Given the description of an element on the screen output the (x, y) to click on. 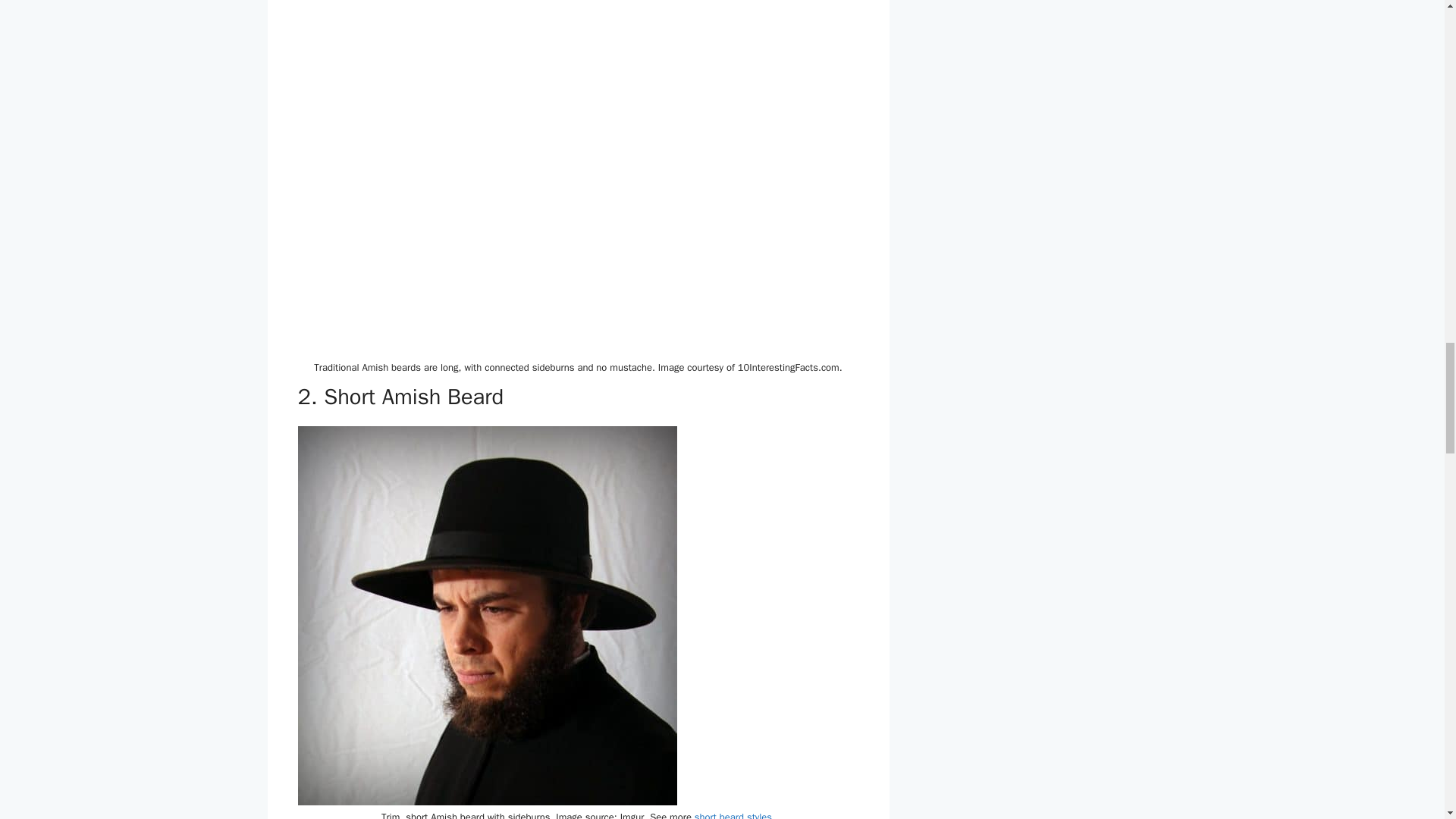
short beard styles (732, 814)
Traditional Amish Beard (473, 177)
